Given the description of an element on the screen output the (x, y) to click on. 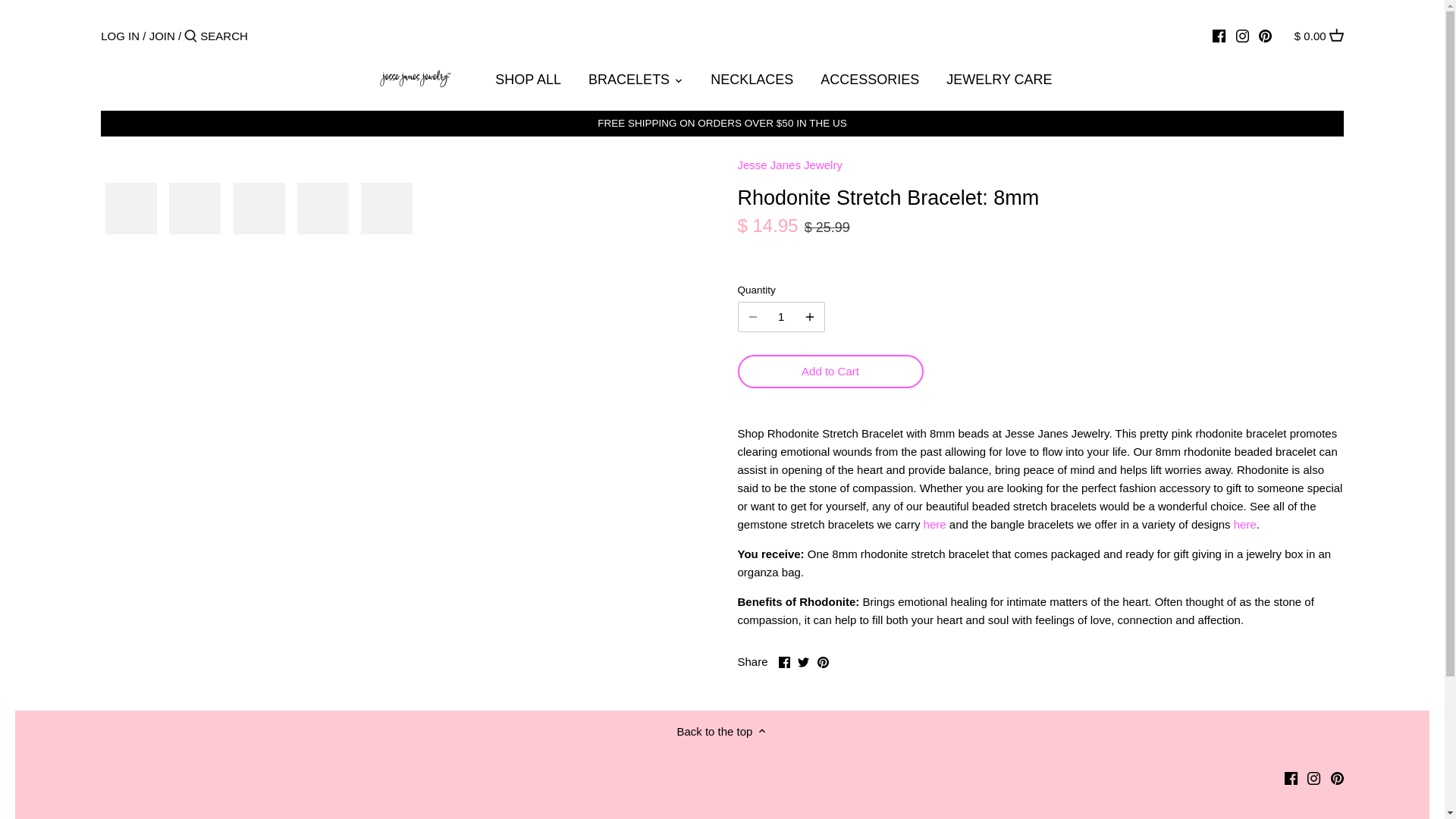
SHOP ALL (528, 82)
bangle bracelets at Jesse Janes Jewelry (1244, 523)
Add to Cart (829, 371)
JEWELRY CARE (999, 82)
ACCESSORIES (869, 82)
Pinterest (822, 662)
Instagram (1313, 778)
Facebook (784, 662)
NECKLACES (751, 82)
JOIN (161, 34)
